Given the description of an element on the screen output the (x, y) to click on. 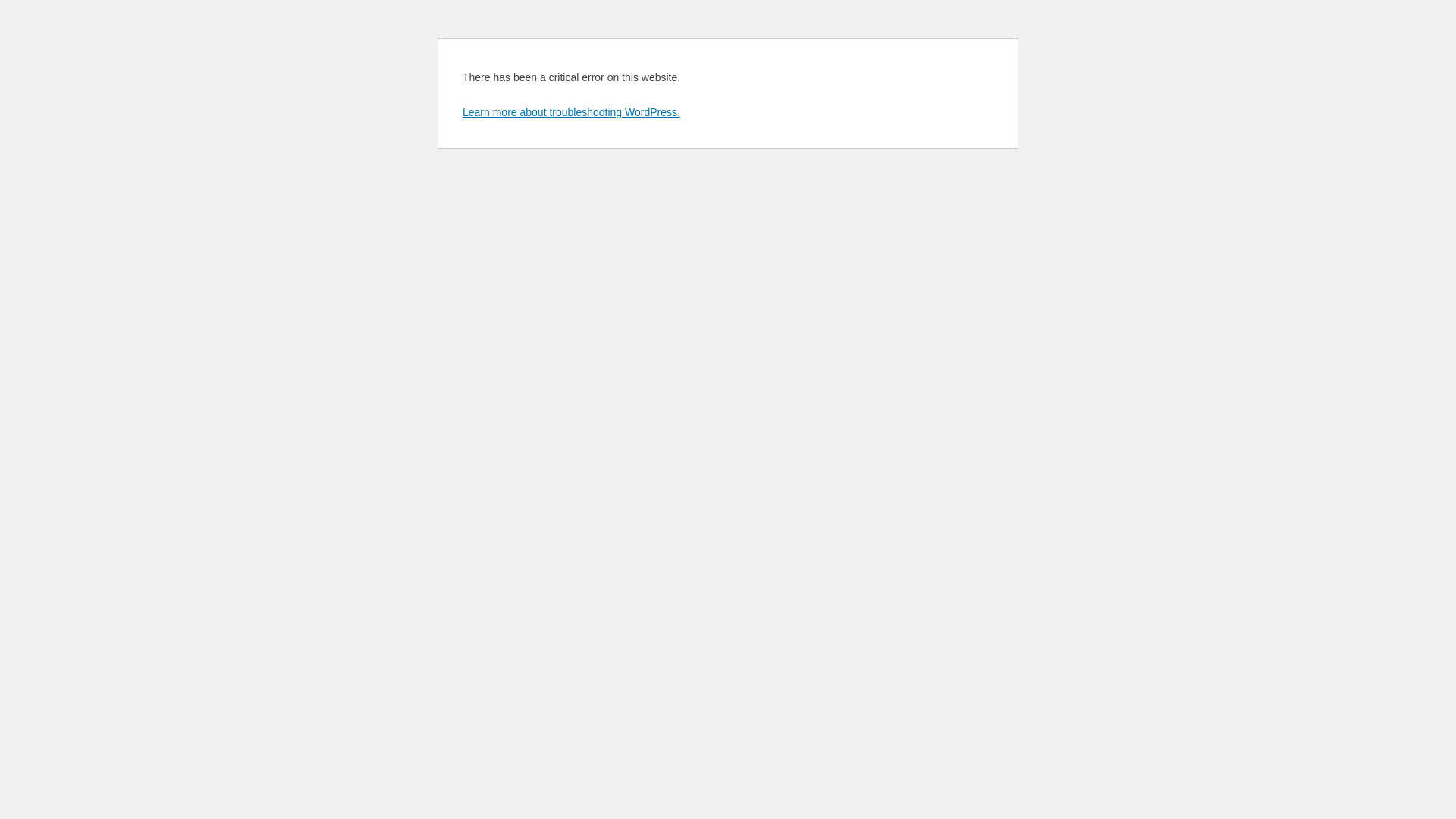
Learn more about troubleshooting WordPress. Element type: text (571, 112)
